Given the description of an element on the screen output the (x, y) to click on. 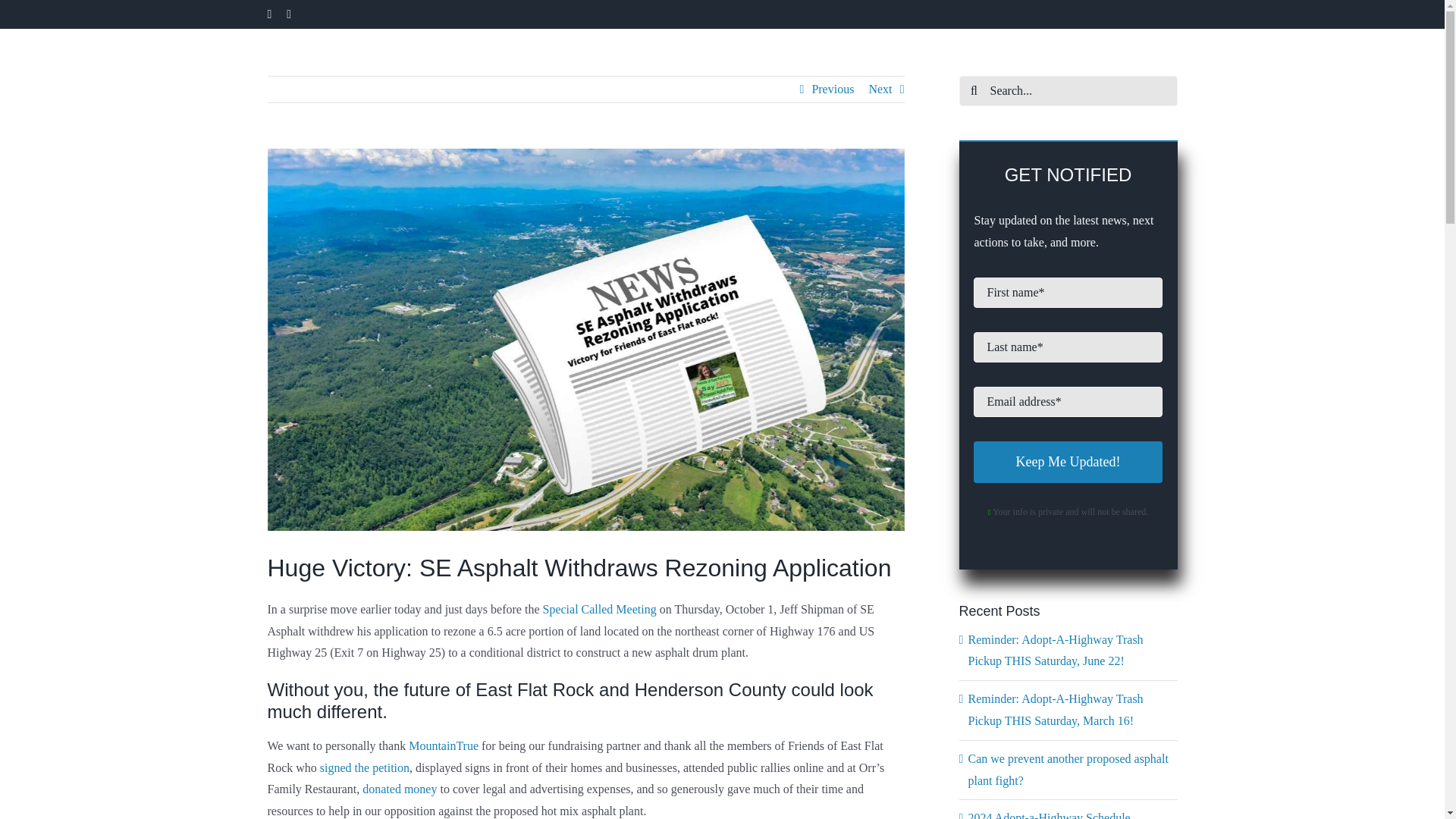
MountainTrue (444, 745)
Keep Me Updated! (1067, 462)
Previous (831, 89)
Next (879, 89)
signed the petition (364, 767)
Can we prevent another proposed asphalt plant fight? (1067, 769)
donated money (399, 788)
